Given the description of an element on the screen output the (x, y) to click on. 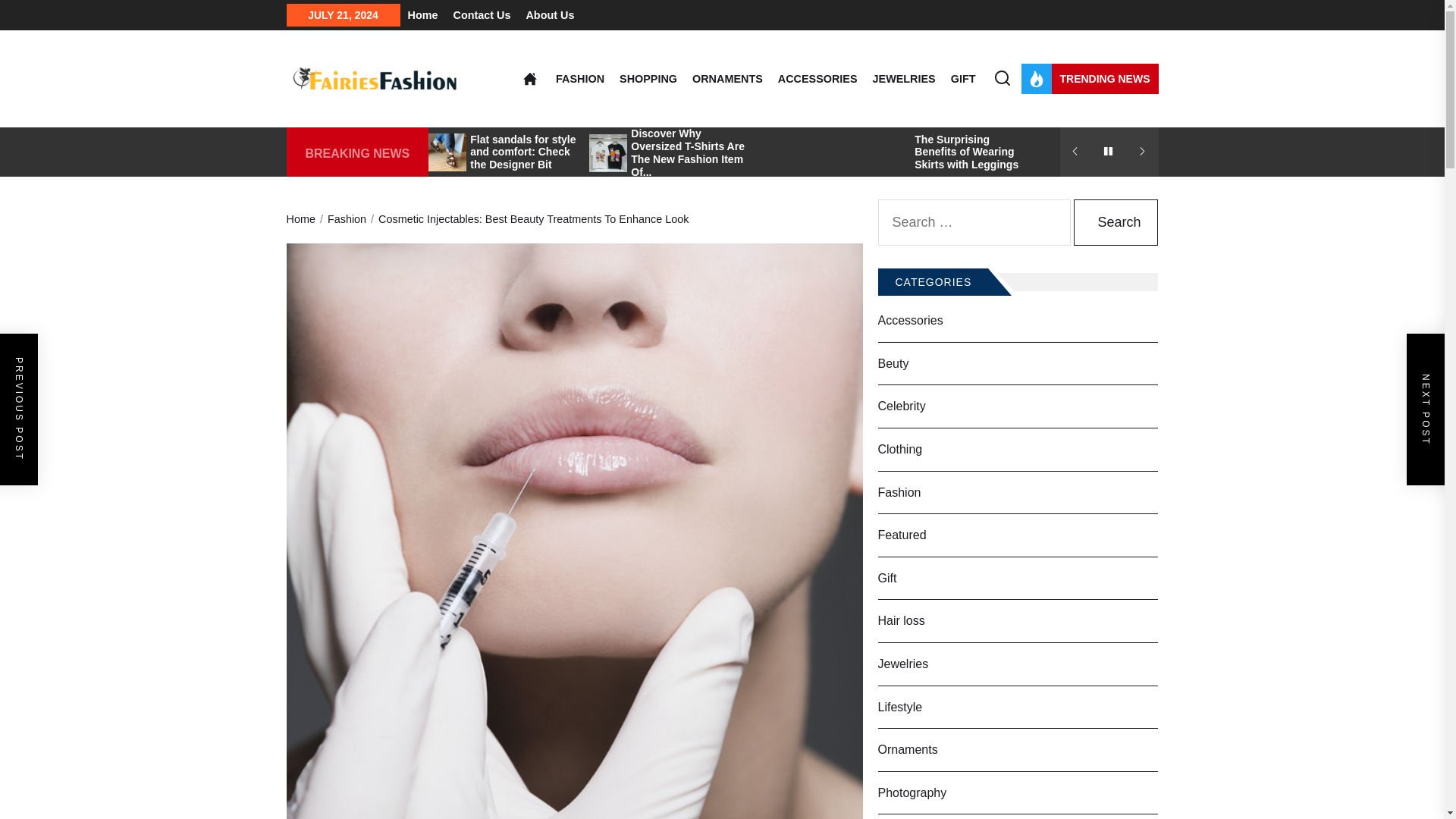
GIFT (962, 78)
Search (1115, 222)
Search (1115, 222)
TRENDING NEWS (1088, 78)
SHOPPING (648, 78)
JEWELRIES (904, 78)
Home (422, 15)
FASHION (580, 78)
ORNAMENTS (727, 78)
Home (529, 78)
Contact Us (481, 15)
About Us (549, 15)
ACCESSORIES (817, 78)
